Given the description of an element on the screen output the (x, y) to click on. 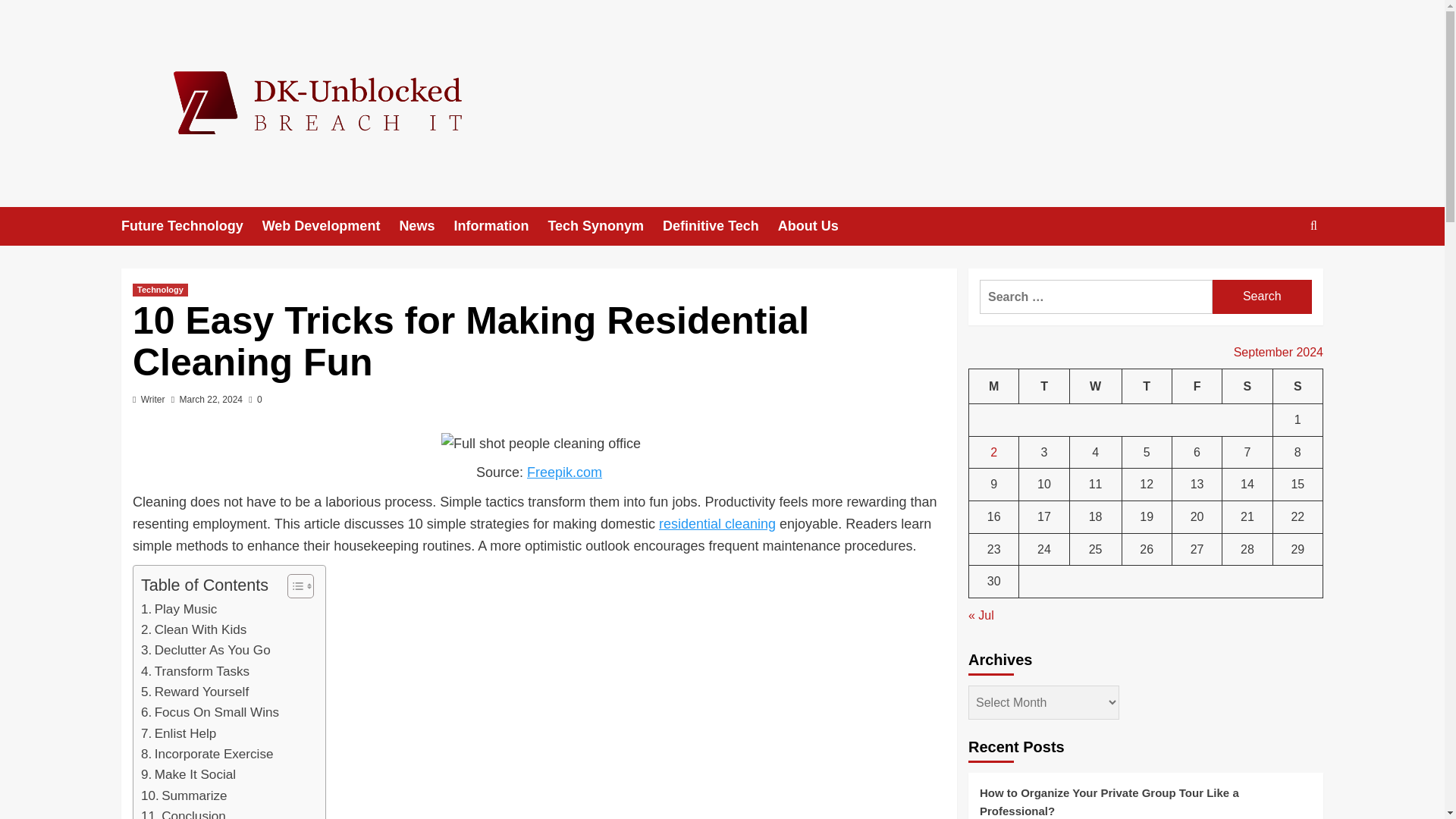
Technology (159, 289)
Definitive Tech (719, 226)
Focus On Small Wins (210, 711)
Incorporate Exercise (207, 753)
Clean With Kids (193, 629)
Information (499, 226)
Make It Social (188, 774)
Conclusion (183, 812)
Play Music (178, 608)
Search (1278, 272)
